Given the description of an element on the screen output the (x, y) to click on. 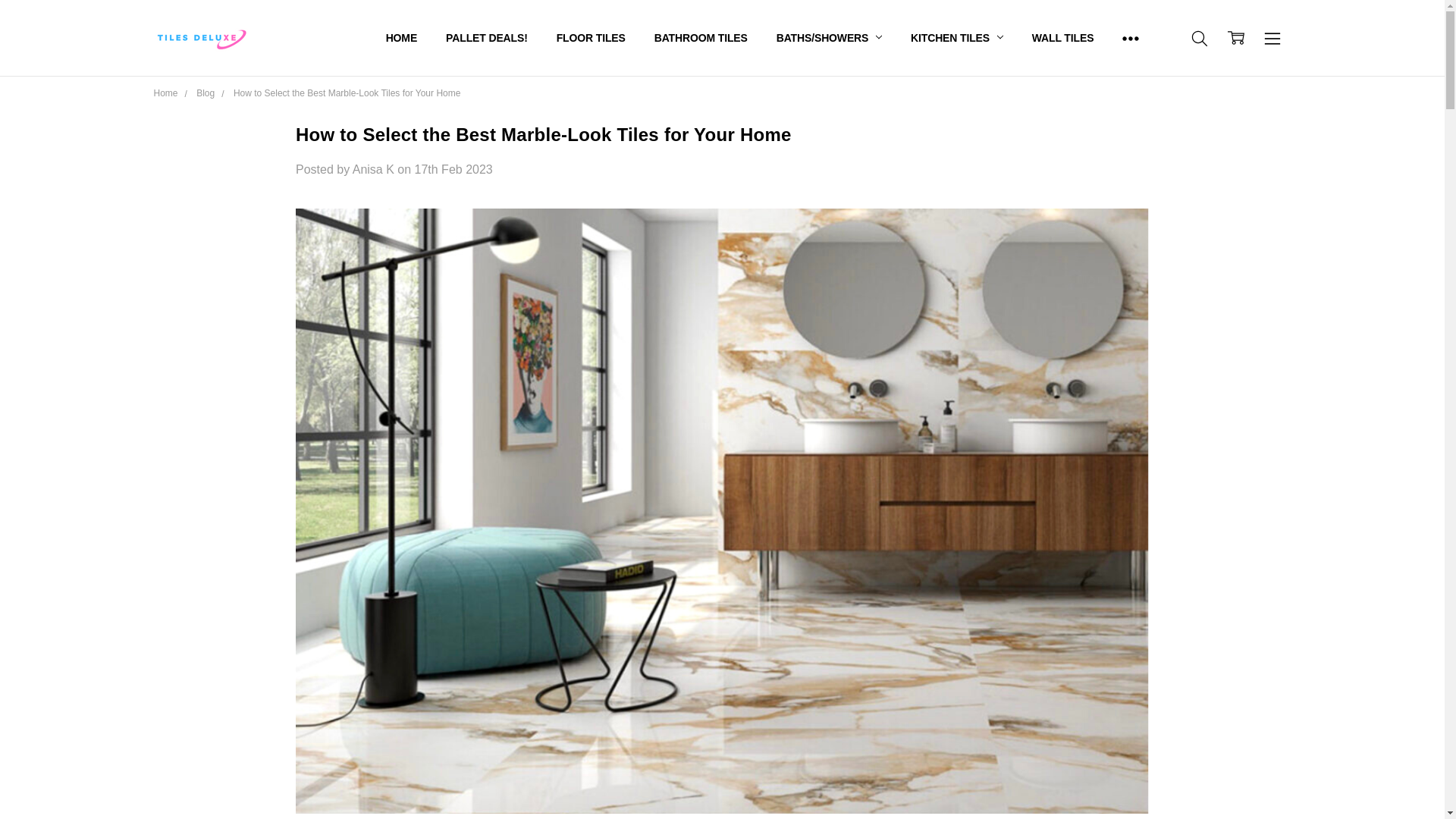
PALLET DEALS! (485, 38)
WALL TILES (1062, 38)
KITCHEN TILES (956, 38)
Tiles Deluxe (199, 37)
INTERNATIONAL ORDERS (451, 38)
BATHROOM TILES (700, 38)
FLOOR TILES (590, 38)
CONTACT US (419, 38)
ABOUT US (412, 38)
